Given the description of an element on the screen output the (x, y) to click on. 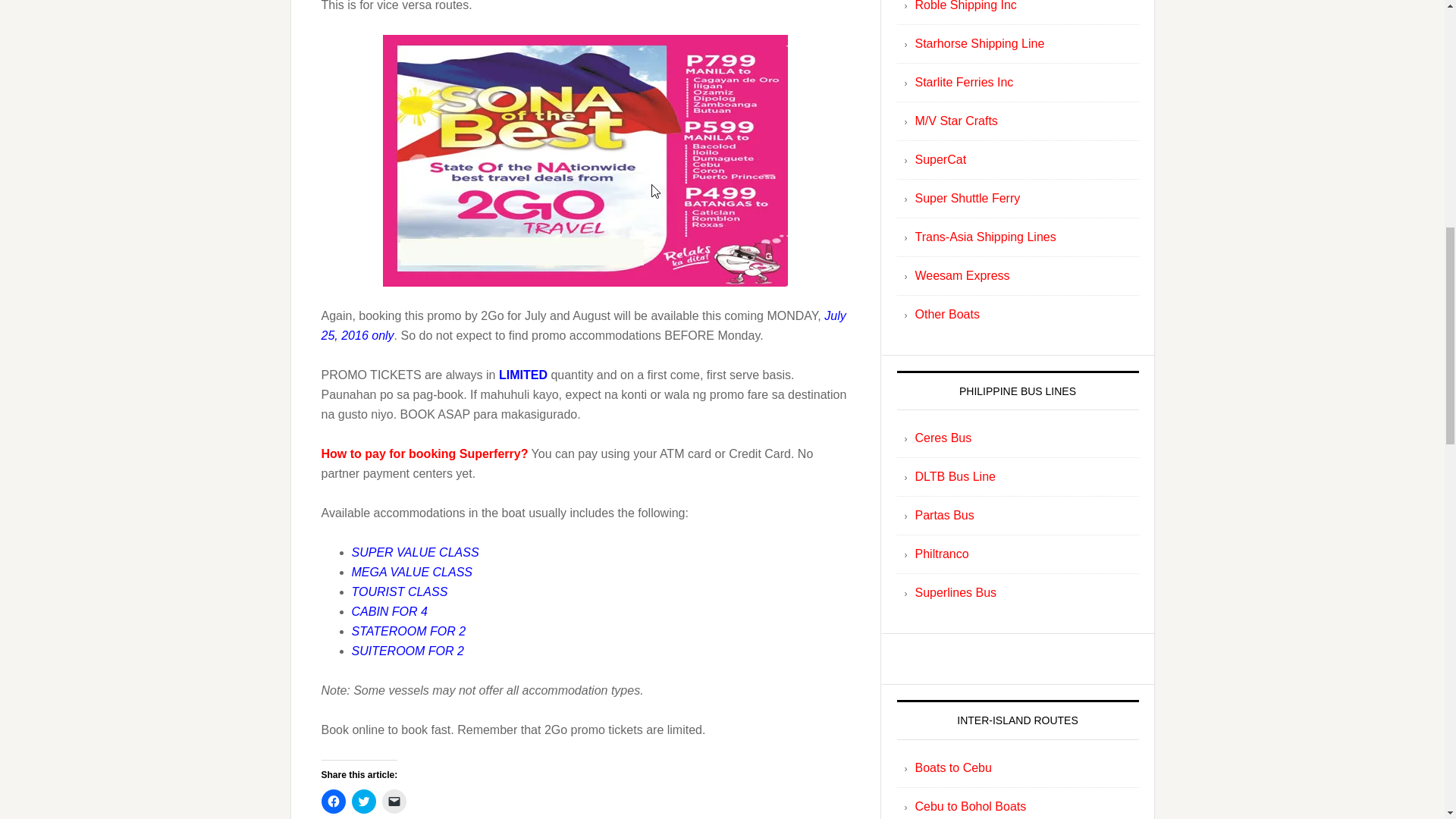
Click to share on Twitter (363, 801)
Click to share on Facebook (333, 801)
Click to email a link to a friend (393, 801)
